Given the description of an element on the screen output the (x, y) to click on. 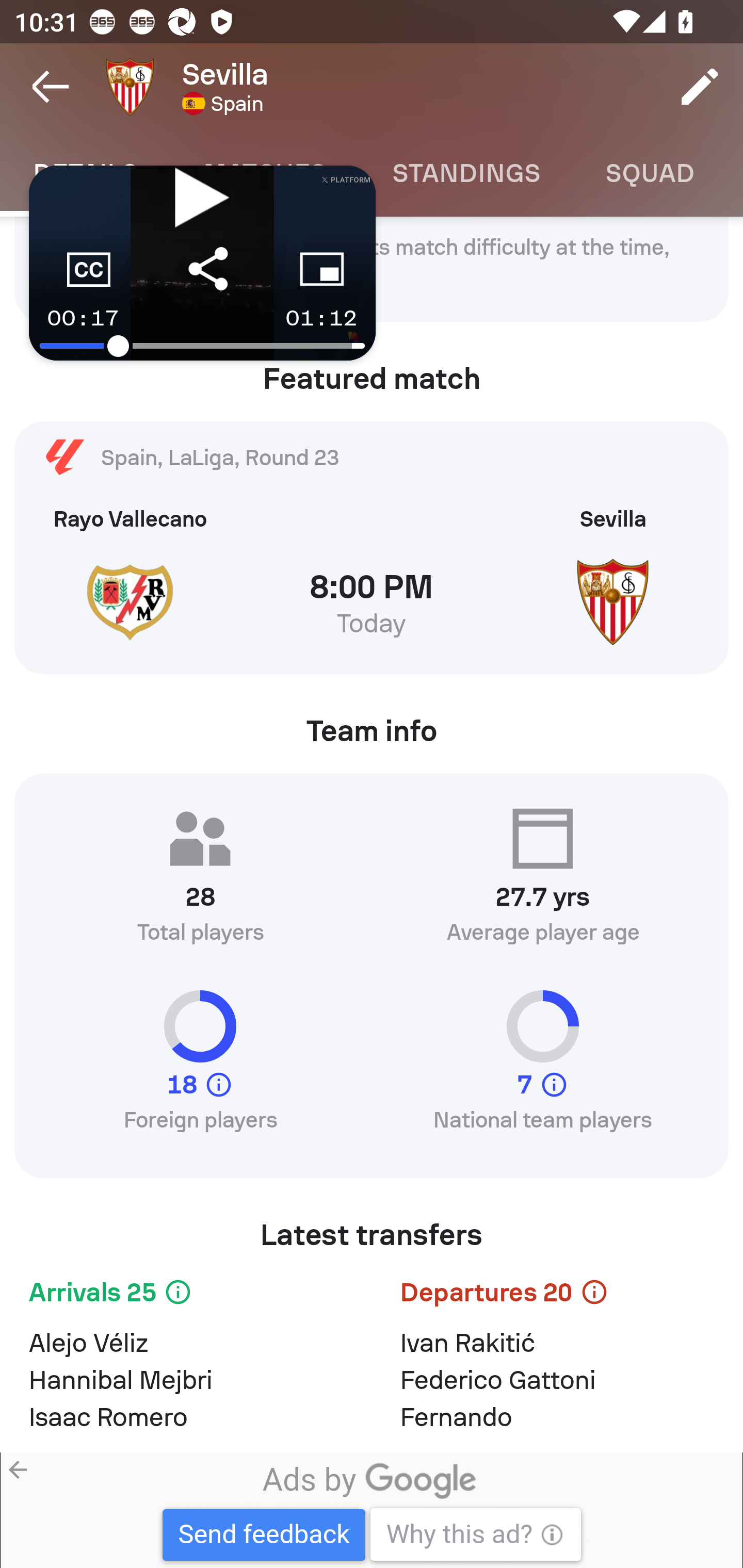
Navigate up (50, 86)
Edit (699, 86)
Standings STANDINGS (465, 173)
Squad SQUAD (650, 173)
18 Foreign players (199, 1069)
7 National team players (542, 1069)
Arrivals 25 (185, 1295)
Departures 20 (557, 1295)
